Given the description of an element on the screen output the (x, y) to click on. 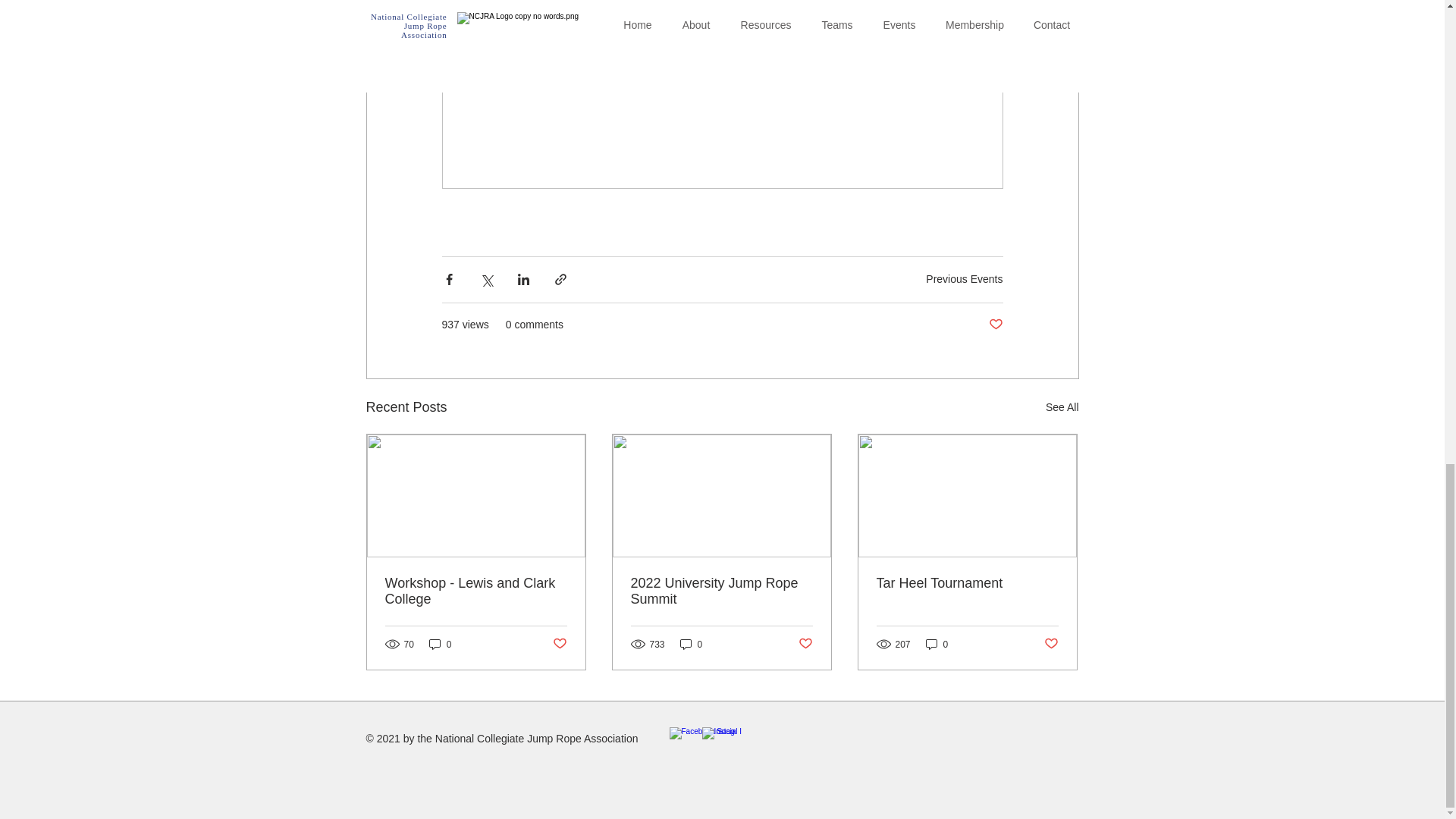
Post not marked as liked (558, 643)
Post not marked as liked (804, 643)
Post not marked as liked (1050, 643)
Workshop - Lewis and Clark College (476, 591)
Tar Heel Tournament (967, 583)
0 (440, 644)
See All (1061, 407)
0 (691, 644)
Previous Events (964, 278)
0 (937, 644)
2022 University Jump Rope Summit (721, 591)
Post not marked as liked (995, 324)
